Given the description of an element on the screen output the (x, y) to click on. 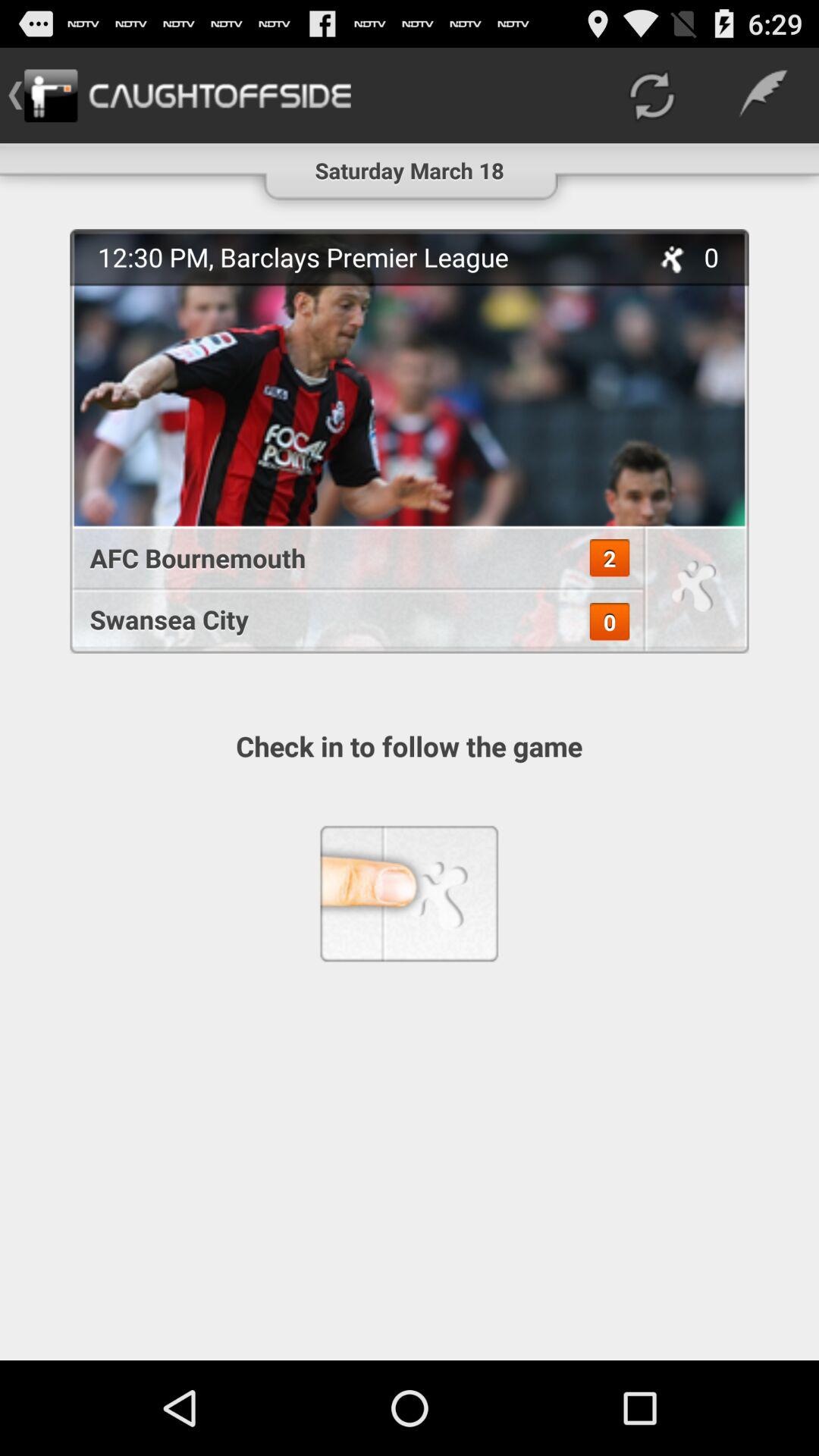
open app below the 12 30 pm icon (609, 558)
